Given the description of an element on the screen output the (x, y) to click on. 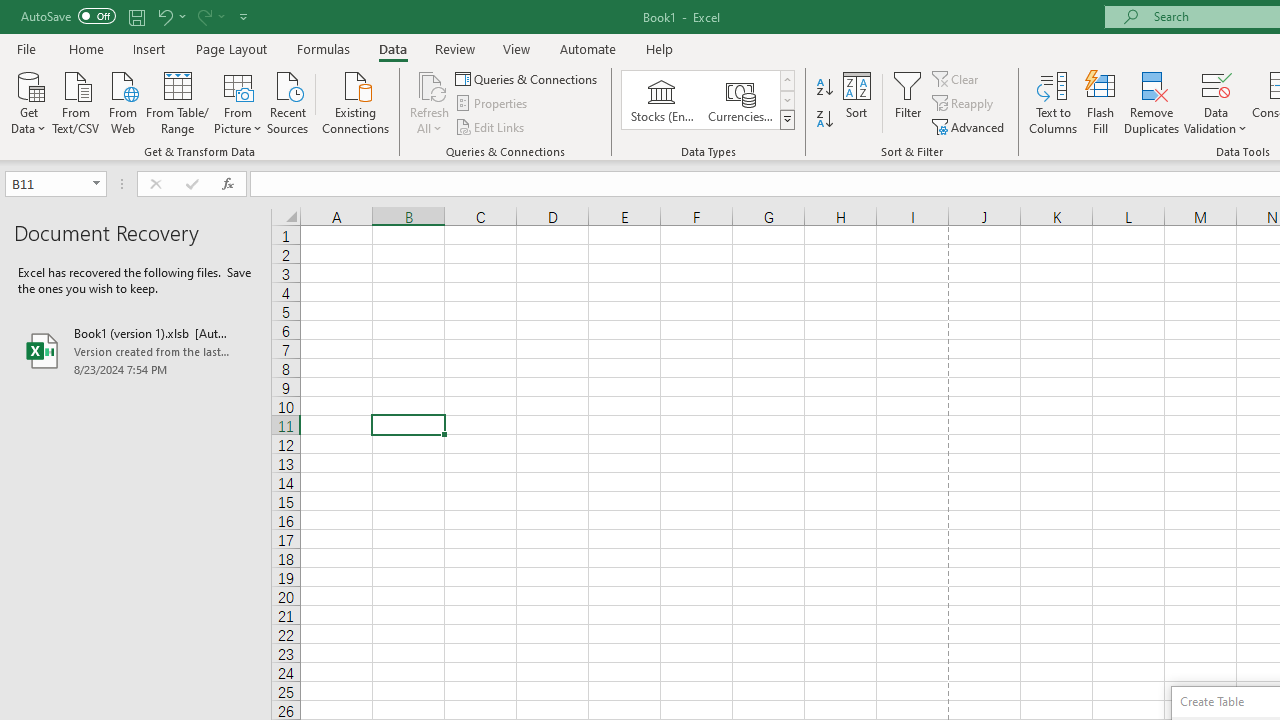
Reapply (964, 103)
Queries & Connections (527, 78)
Sort A to Z (824, 87)
From Web (122, 101)
